Given the description of an element on the screen output the (x, y) to click on. 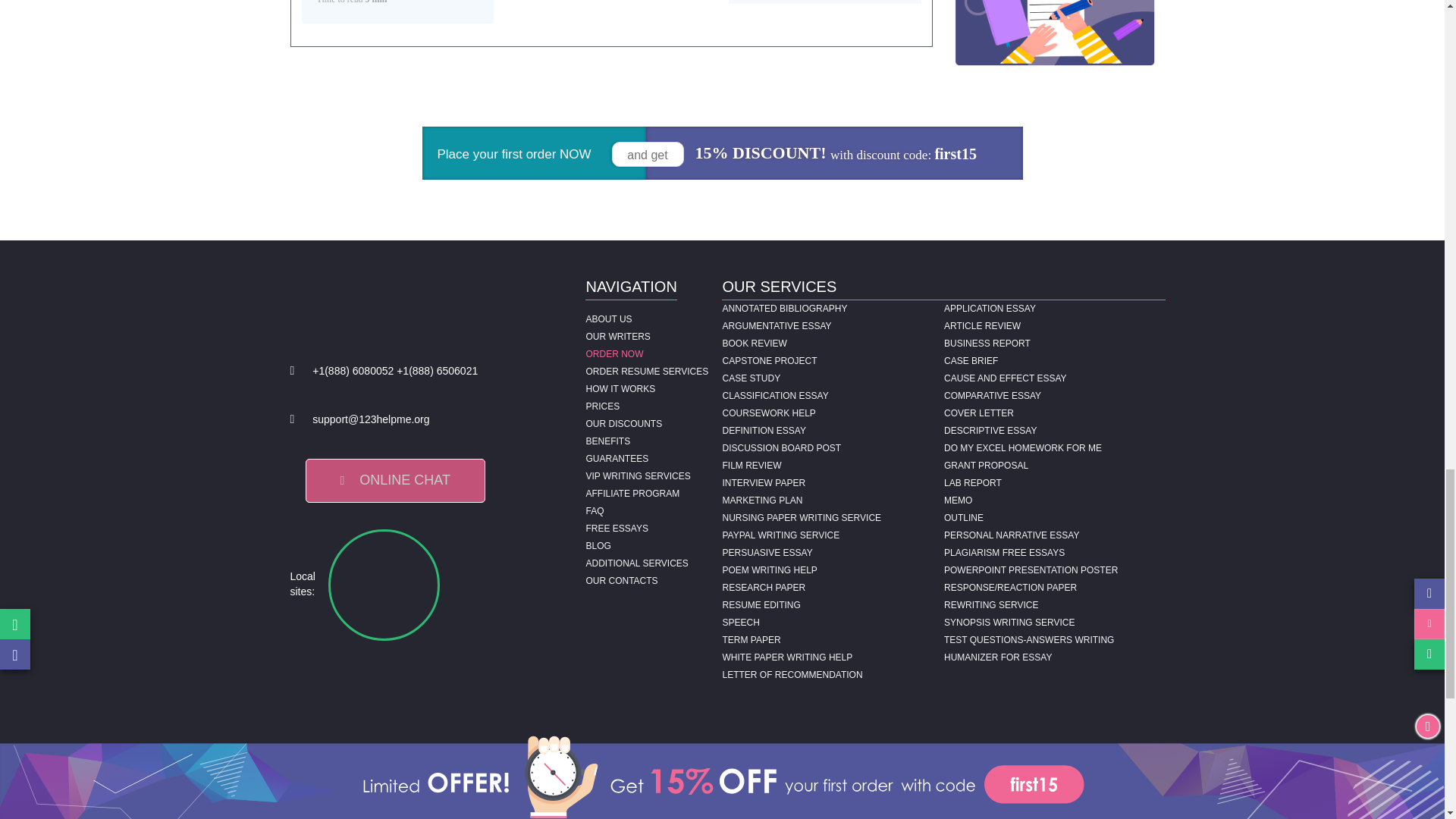
ca.123helpme.org (506, 584)
